Given the description of an element on the screen output the (x, y) to click on. 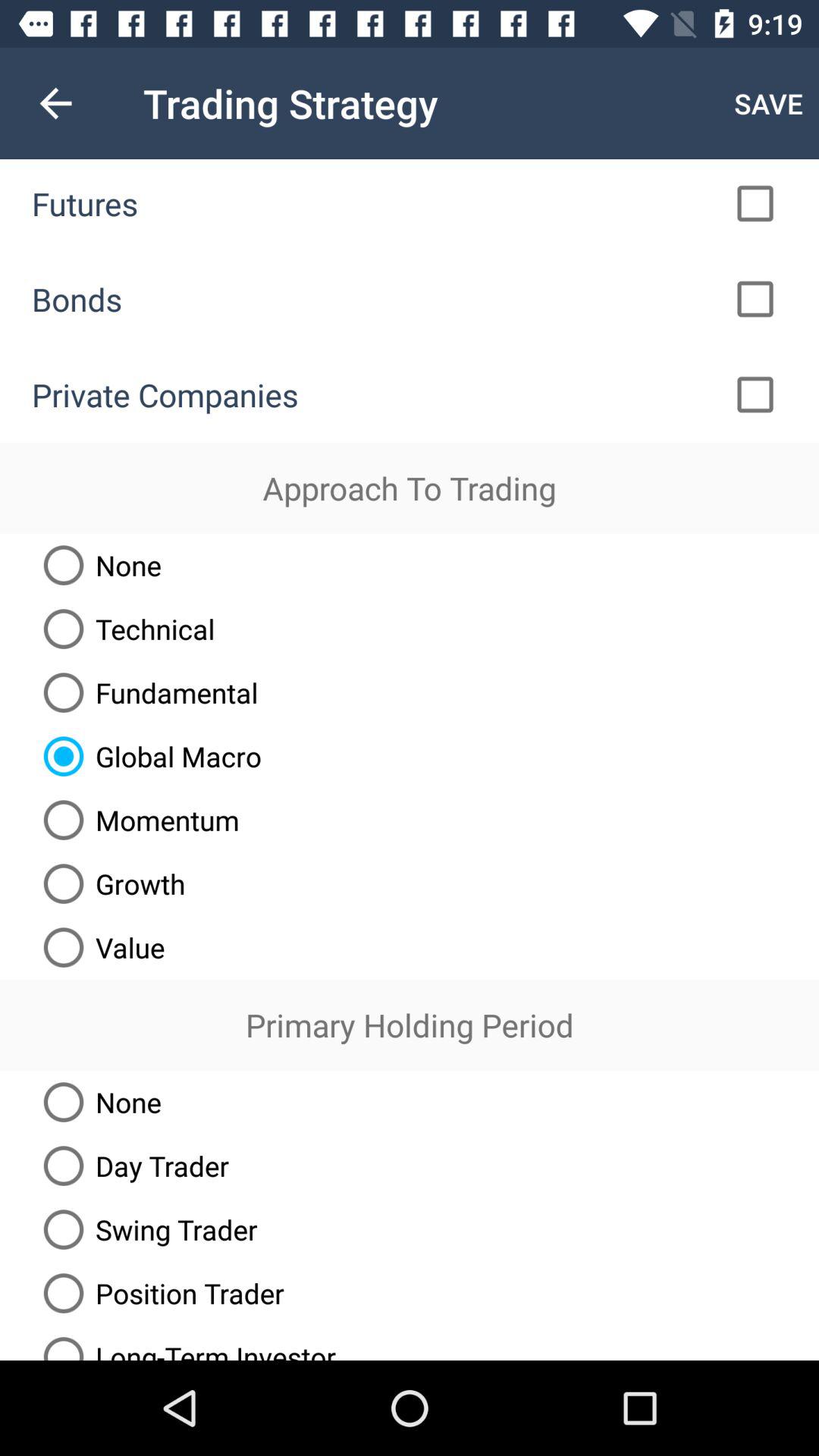
choose item above the long-term investor item (157, 1293)
